Given the description of an element on the screen output the (x, y) to click on. 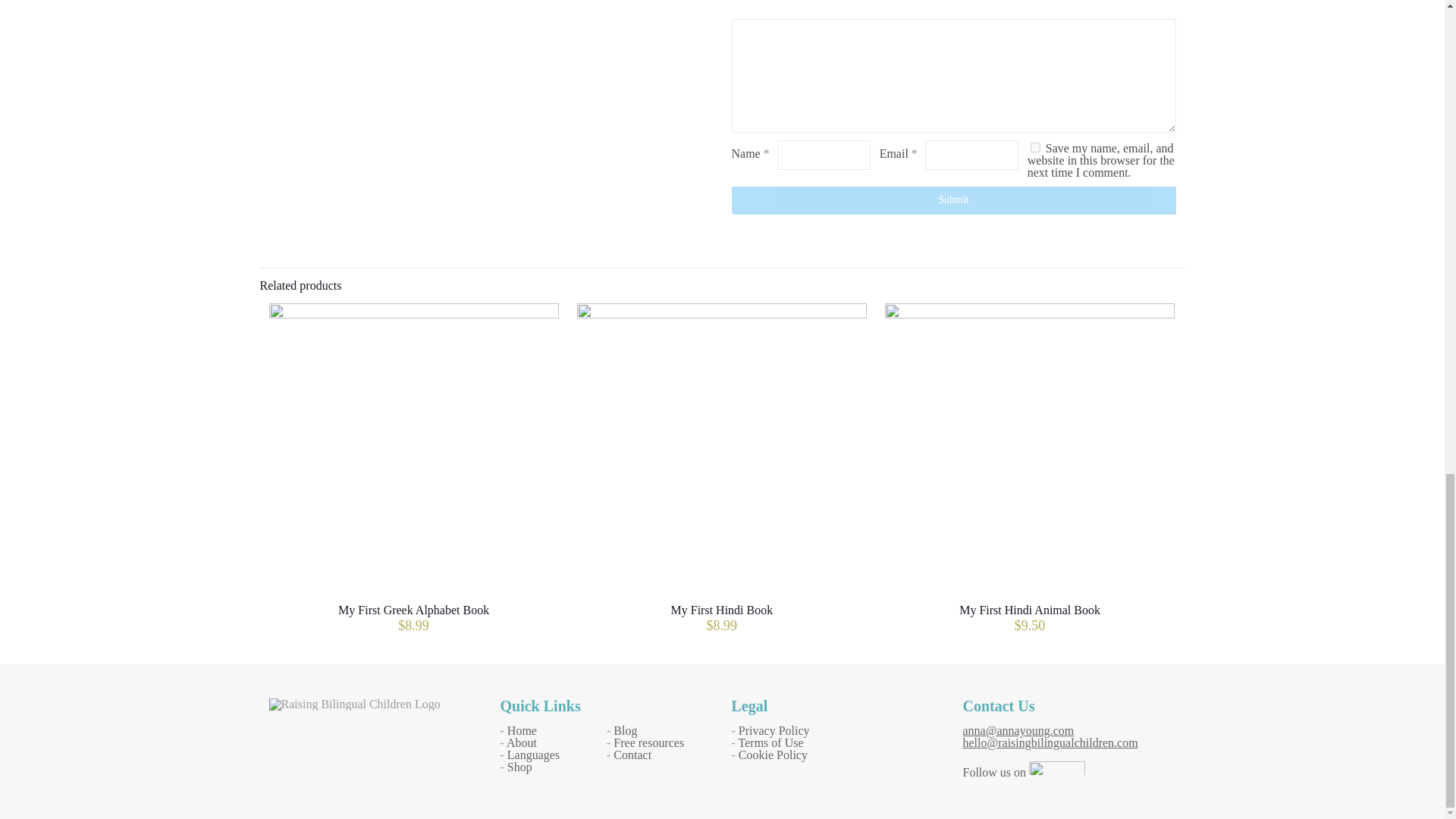
Submit (952, 200)
My First Greek Alphabet Book (413, 609)
Submit (952, 200)
yes (1035, 147)
